Given the description of an element on the screen output the (x, y) to click on. 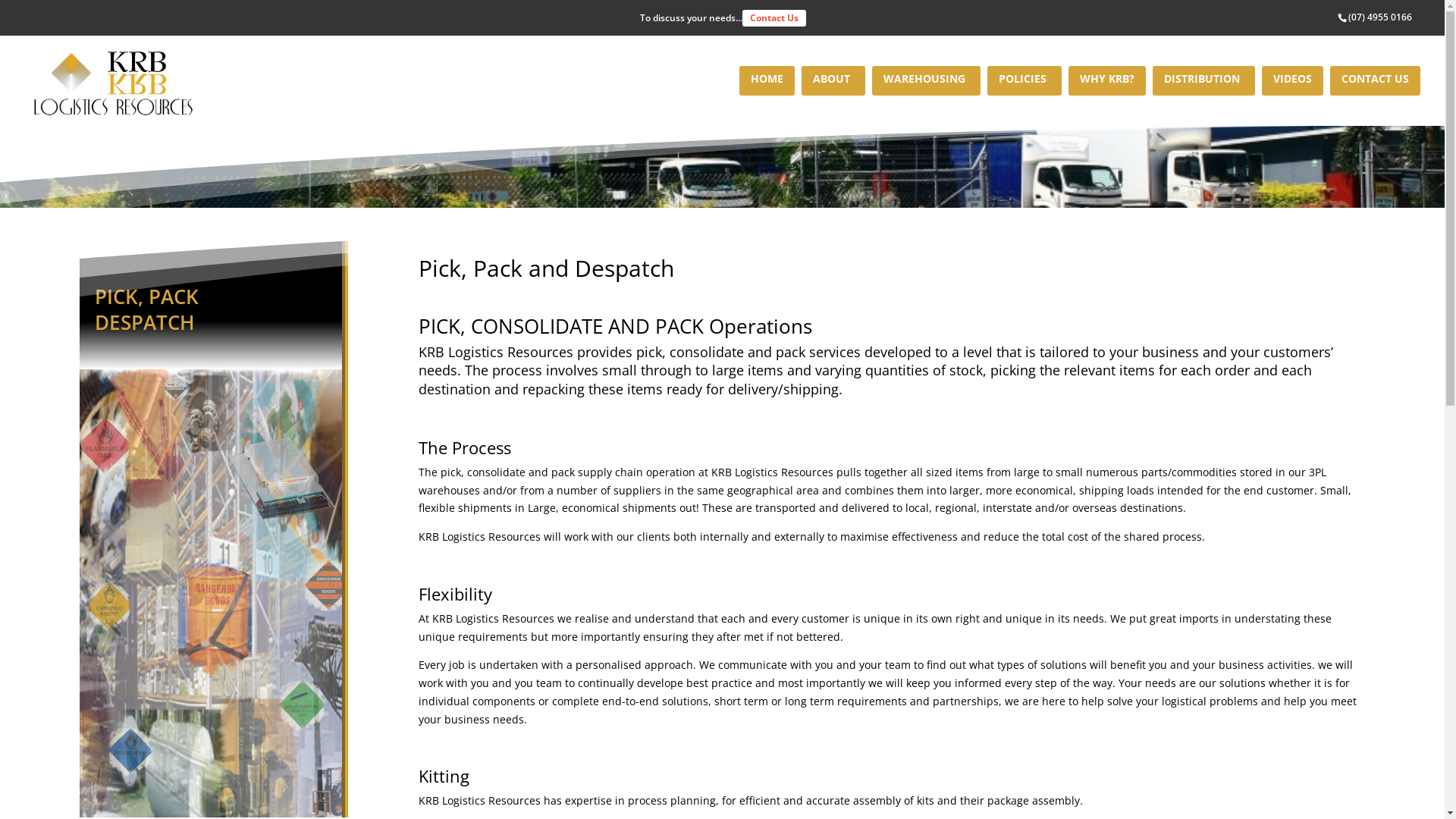
Contact Us Element type: text (774, 17)
HOME Element type: text (766, 80)
POLICIES Element type: text (1024, 80)
WHY KRB? Element type: text (1106, 80)
ABOUT Element type: text (833, 80)
(07) 4955 0166 Element type: text (1380, 16)
DISTRIBUTION Element type: text (1203, 80)
VIDEOS Element type: text (1292, 80)
CONTACT US Element type: text (1375, 80)
WAREHOUSING Element type: text (926, 80)
